Given the description of an element on the screen output the (x, y) to click on. 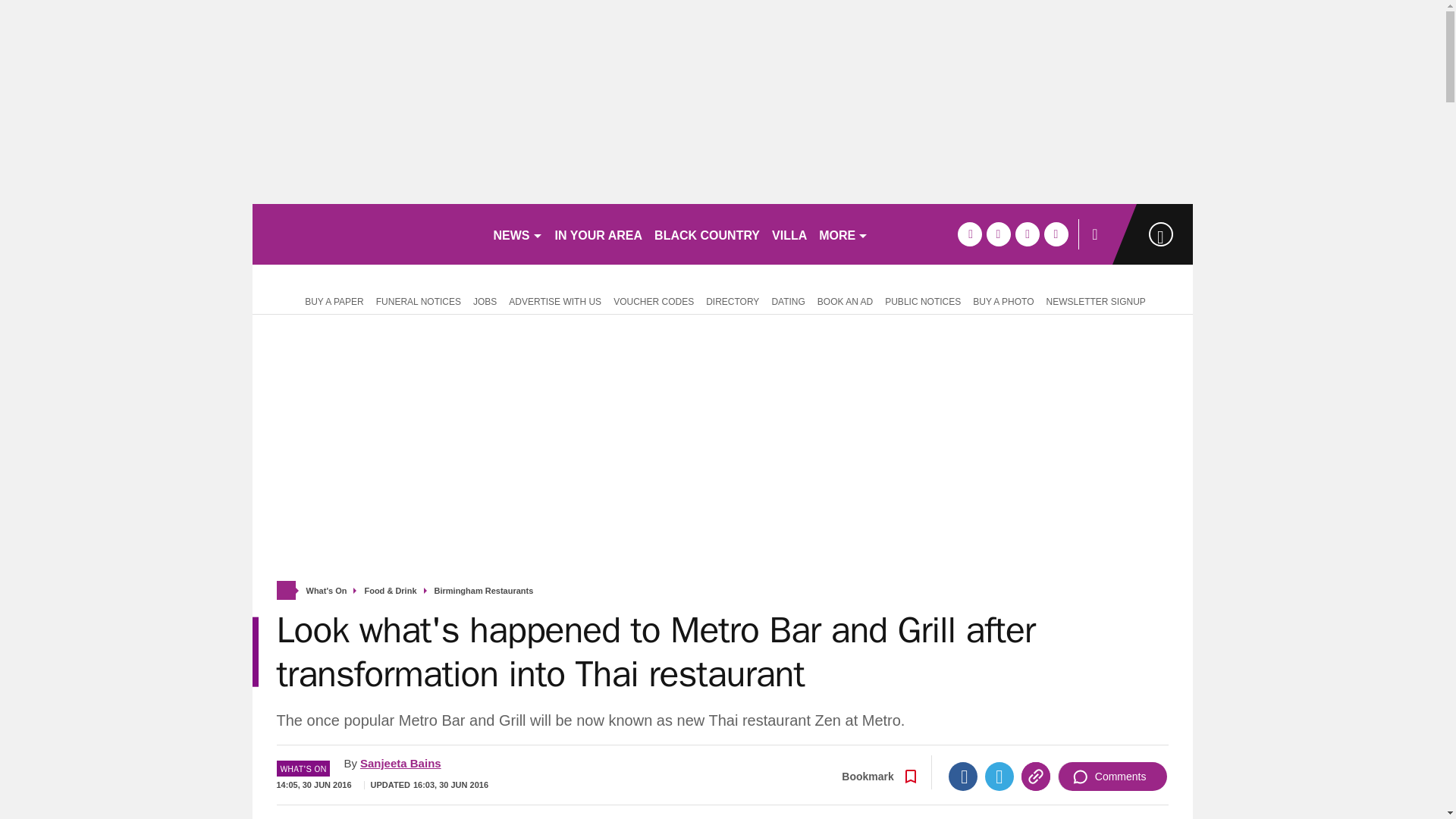
instagram (1055, 233)
BLACK COUNTRY (706, 233)
Twitter (999, 776)
VILLA (788, 233)
twitter (997, 233)
NEWS (517, 233)
birminghammail (365, 233)
IN YOUR AREA (598, 233)
Facebook (962, 776)
MORE (843, 233)
Comments (1112, 776)
tiktok (1026, 233)
facebook (968, 233)
